Given the description of an element on the screen output the (x, y) to click on. 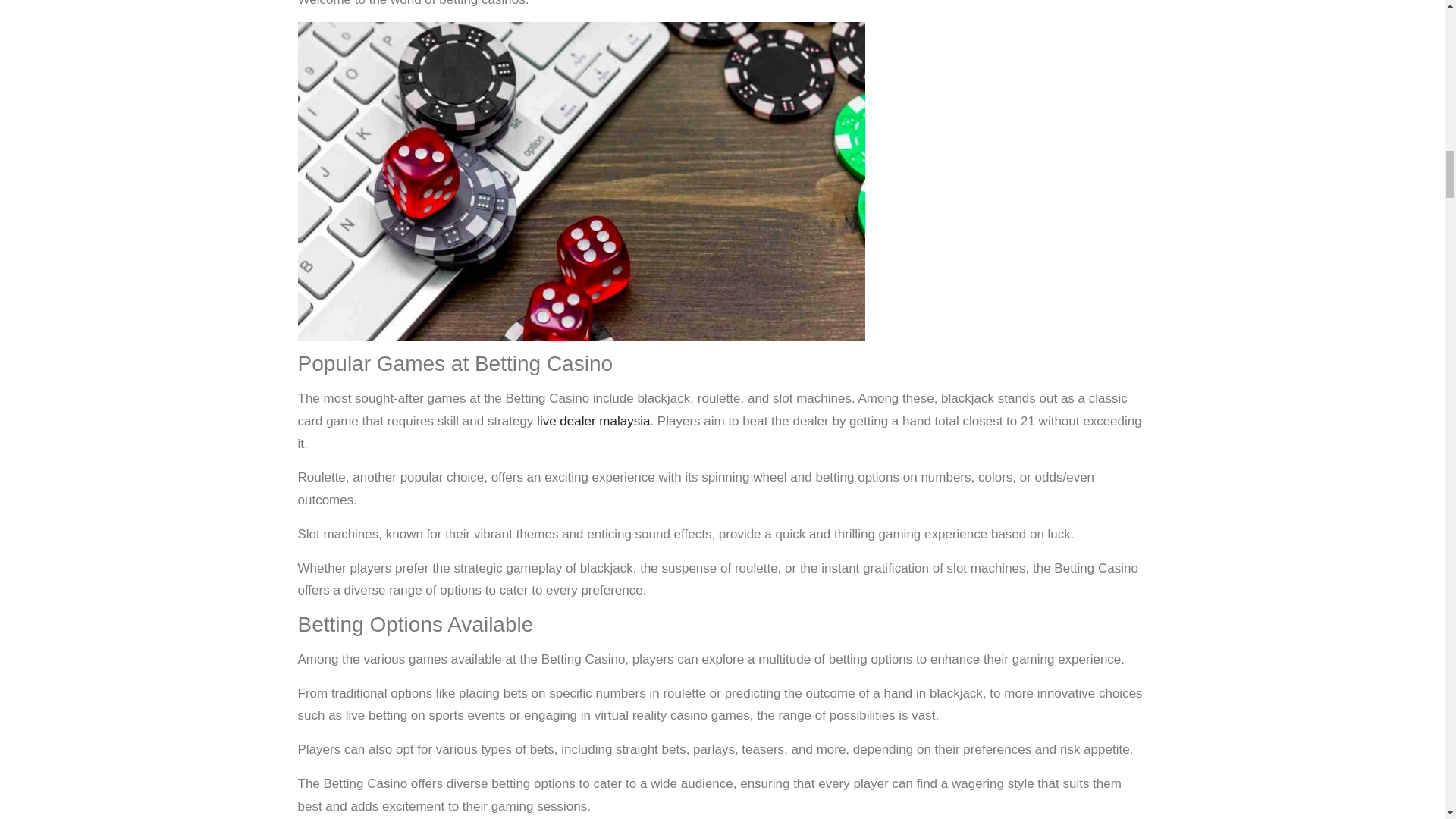
live dealer malaysia (593, 421)
